Given the description of an element on the screen output the (x, y) to click on. 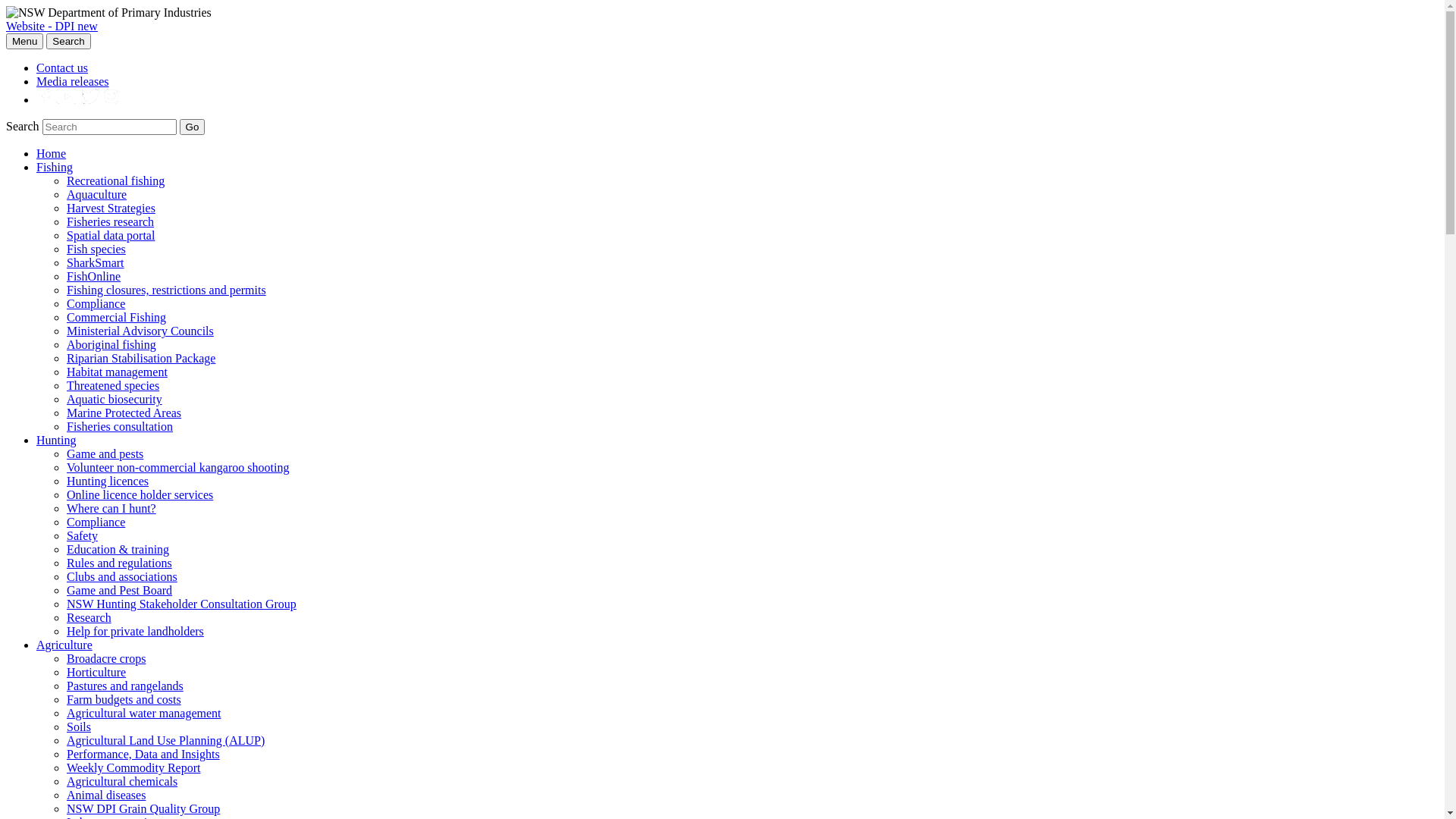
Compliance Element type: text (95, 521)
Volunteer non-commercial kangaroo shooting Element type: text (177, 467)
Pastures and rangelands Element type: text (124, 685)
Fisheries research Element type: text (109, 221)
NSW DPI Grain Quality Group Element type: text (142, 808)
Help for private landholders Element type: text (134, 630)
Rules and regulations Element type: text (119, 562)
Agricultural chemicals Element type: text (121, 781)
Fishing closures, restrictions and permits Element type: text (166, 289)
Weekly Commodity Report Element type: text (133, 767)
Online licence holder services Element type: text (139, 494)
Where can I hunt? Element type: text (111, 508)
Habitat management Element type: text (116, 371)
Recreational fishing Element type: text (115, 180)
Safety Element type: text (81, 535)
Research Element type: text (88, 617)
Agricultural water management Element type: text (143, 712)
Riparian Stabilisation Package Element type: text (140, 357)
Search Element type: text (68, 41)
Commercial Fishing Element type: text (116, 316)
Aquatic biosecurity Element type: text (114, 398)
Soils Element type: text (78, 726)
Home Element type: text (50, 153)
Ministerial Advisory Councils Element type: text (139, 330)
Agriculture Element type: text (64, 644)
Clubs and associations Element type: text (121, 576)
Education & training Element type: text (117, 548)
Contact us Element type: text (61, 67)
Animal diseases Element type: text (105, 794)
SharkSmart Element type: text (95, 262)
Broadacre crops Element type: text (105, 658)
Agricultural Land Use Planning (ALUP) Element type: text (165, 740)
Menu Element type: text (24, 41)
Horticulture Element type: text (95, 671)
Compliance Element type: text (95, 303)
Hunting licences Element type: text (107, 480)
Fishing Element type: text (54, 166)
Media releases Element type: text (72, 81)
Performance, Data and Insights Element type: text (142, 753)
Fish species Element type: text (95, 248)
Farm budgets and costs Element type: text (123, 699)
Threatened species Element type: text (112, 385)
Spatial data portal Element type: text (110, 235)
Go Element type: text (192, 126)
FishOnline Element type: text (93, 275)
Website - DPI new Element type: text (51, 25)
Game and pests Element type: text (104, 453)
Fisheries consultation Element type: text (119, 426)
Aboriginal fishing Element type: text (111, 344)
Harvest Strategies Element type: text (110, 207)
Aquaculture Element type: text (96, 194)
NSW Hunting Stakeholder Consultation Group Element type: text (181, 603)
Game and Pest Board Element type: text (119, 589)
Hunting Element type: text (55, 439)
Marine Protected Areas Element type: text (123, 412)
